Given the description of an element on the screen output the (x, y) to click on. 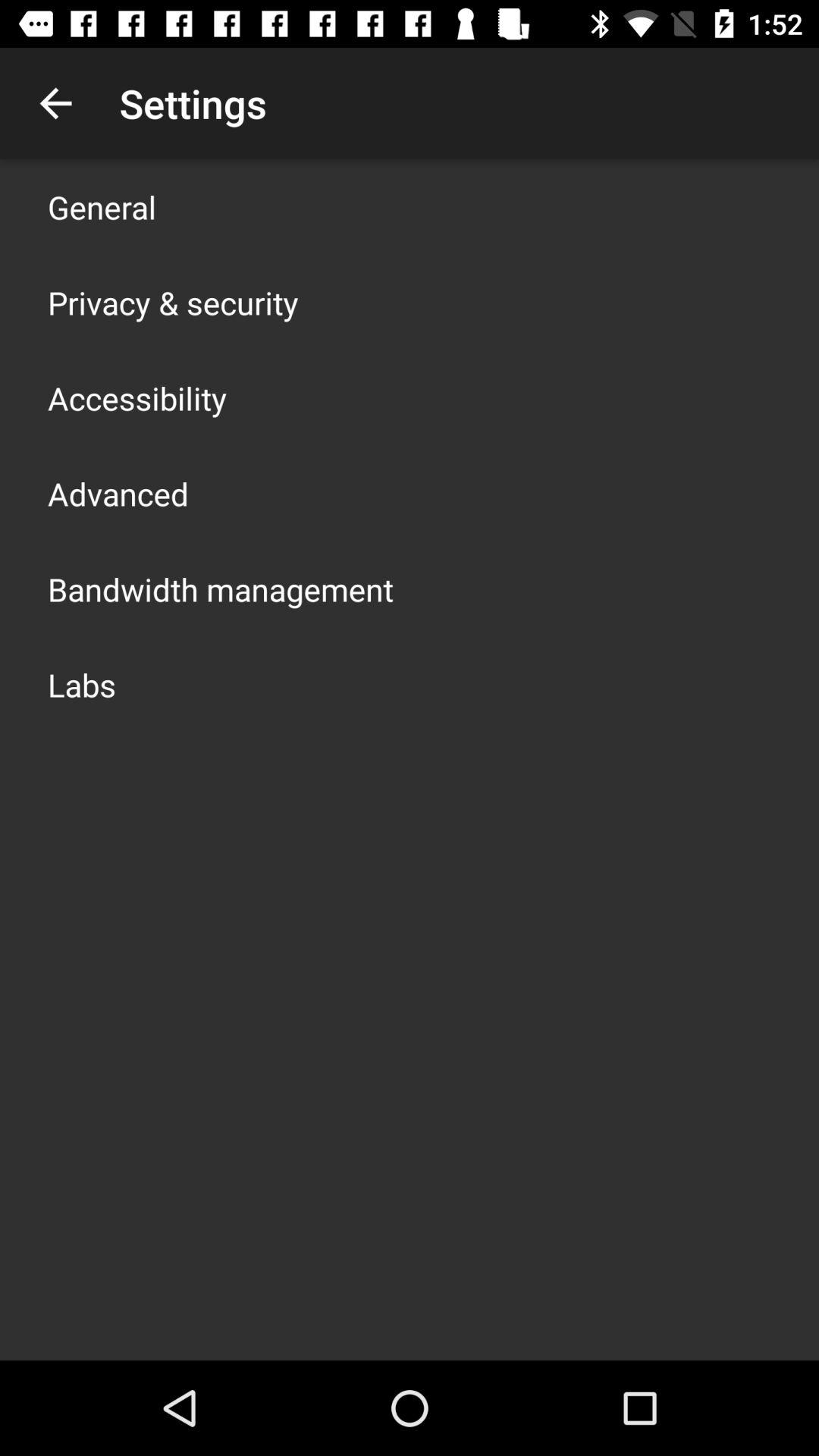
open the item above general icon (55, 103)
